Given the description of an element on the screen output the (x, y) to click on. 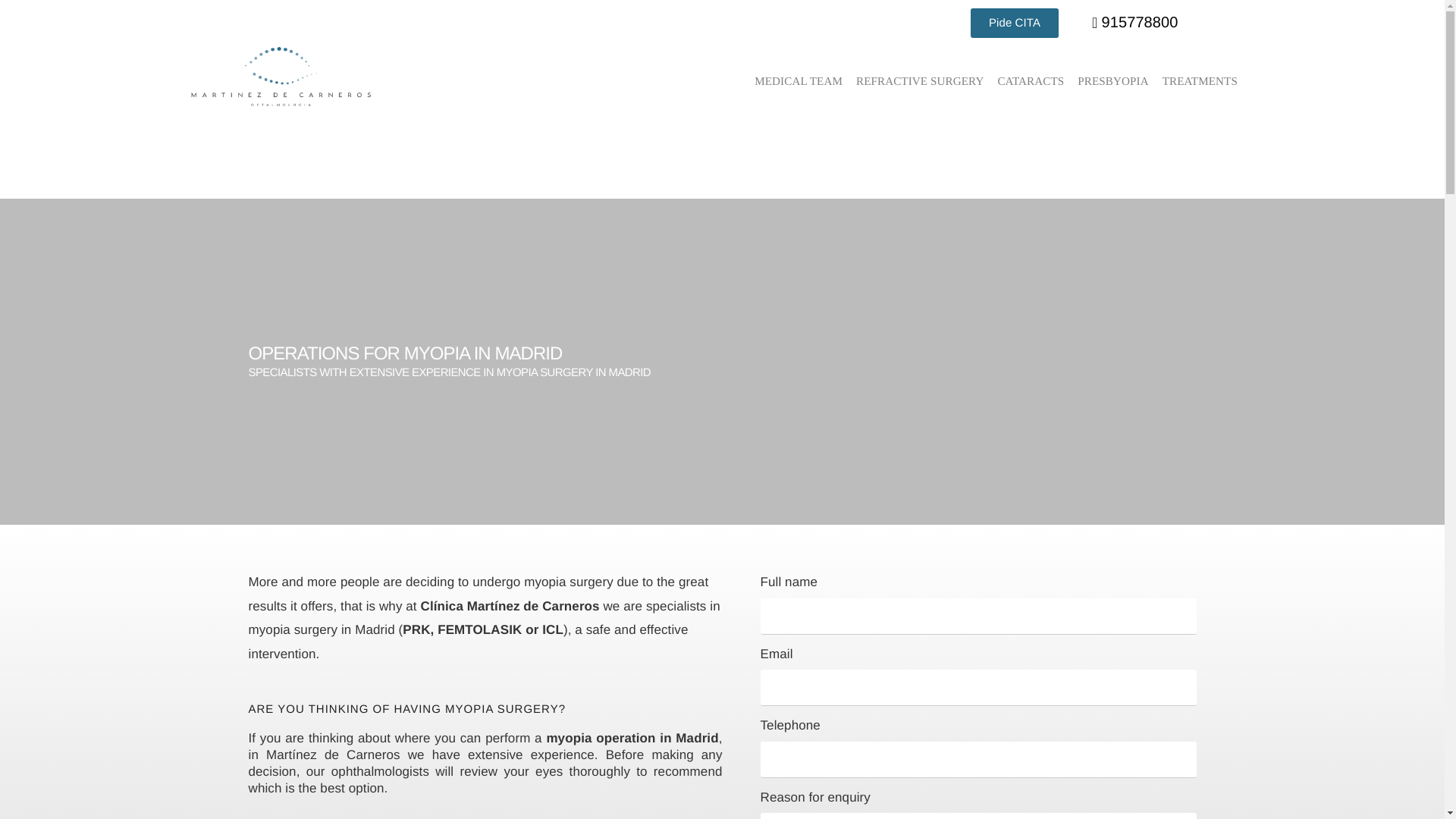
CATARACTS (1030, 80)
915778800 (1134, 22)
MEDICAL TEAM (798, 80)
TREATMENTS (1200, 80)
PRESBYOPIA (1112, 80)
REFRACTIVE SURGERY (919, 80)
Pide CITA (1014, 22)
